Given the description of an element on the screen output the (x, y) to click on. 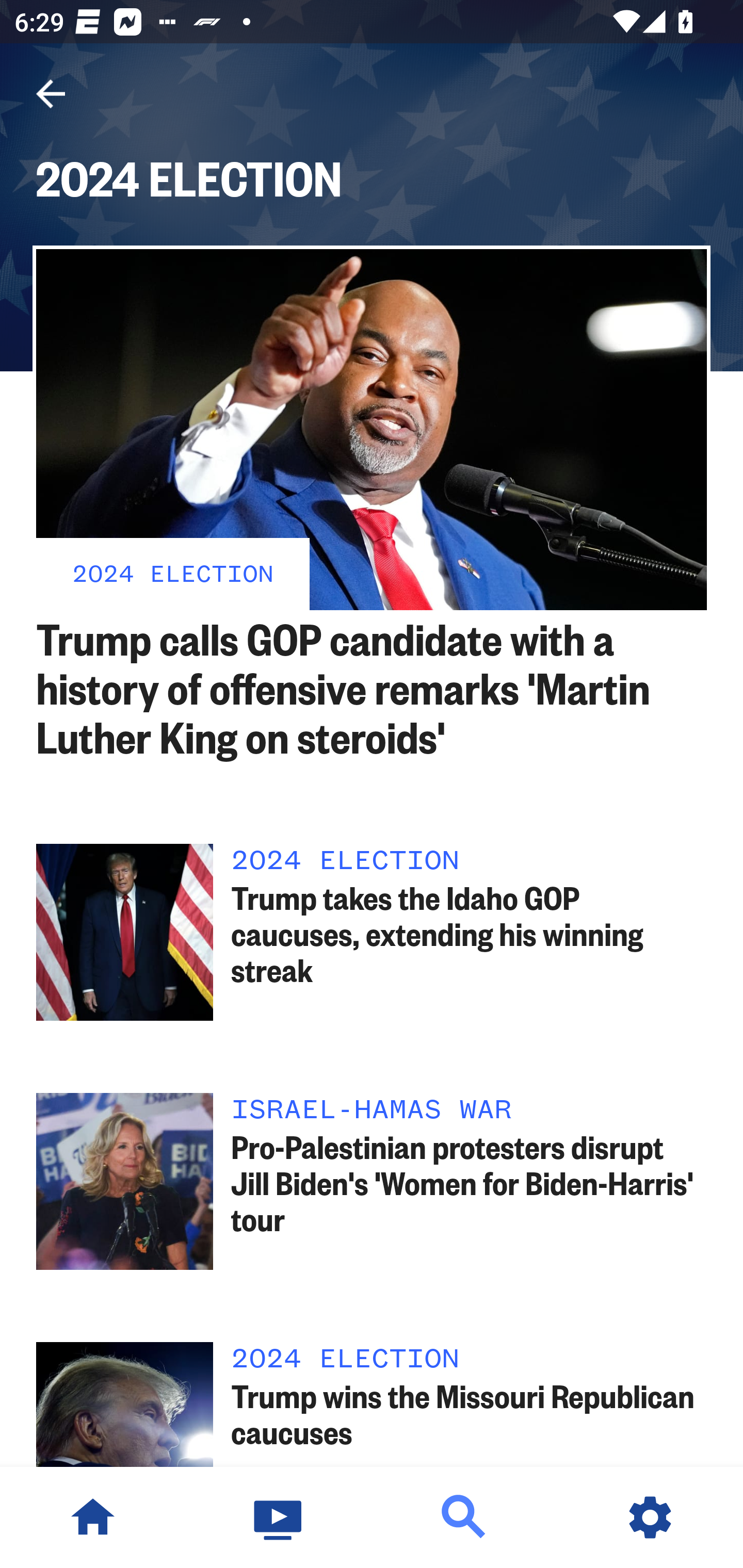
Navigate up (50, 93)
NBC News Home (92, 1517)
Watch (278, 1517)
Settings (650, 1517)
